Given the description of an element on the screen output the (x, y) to click on. 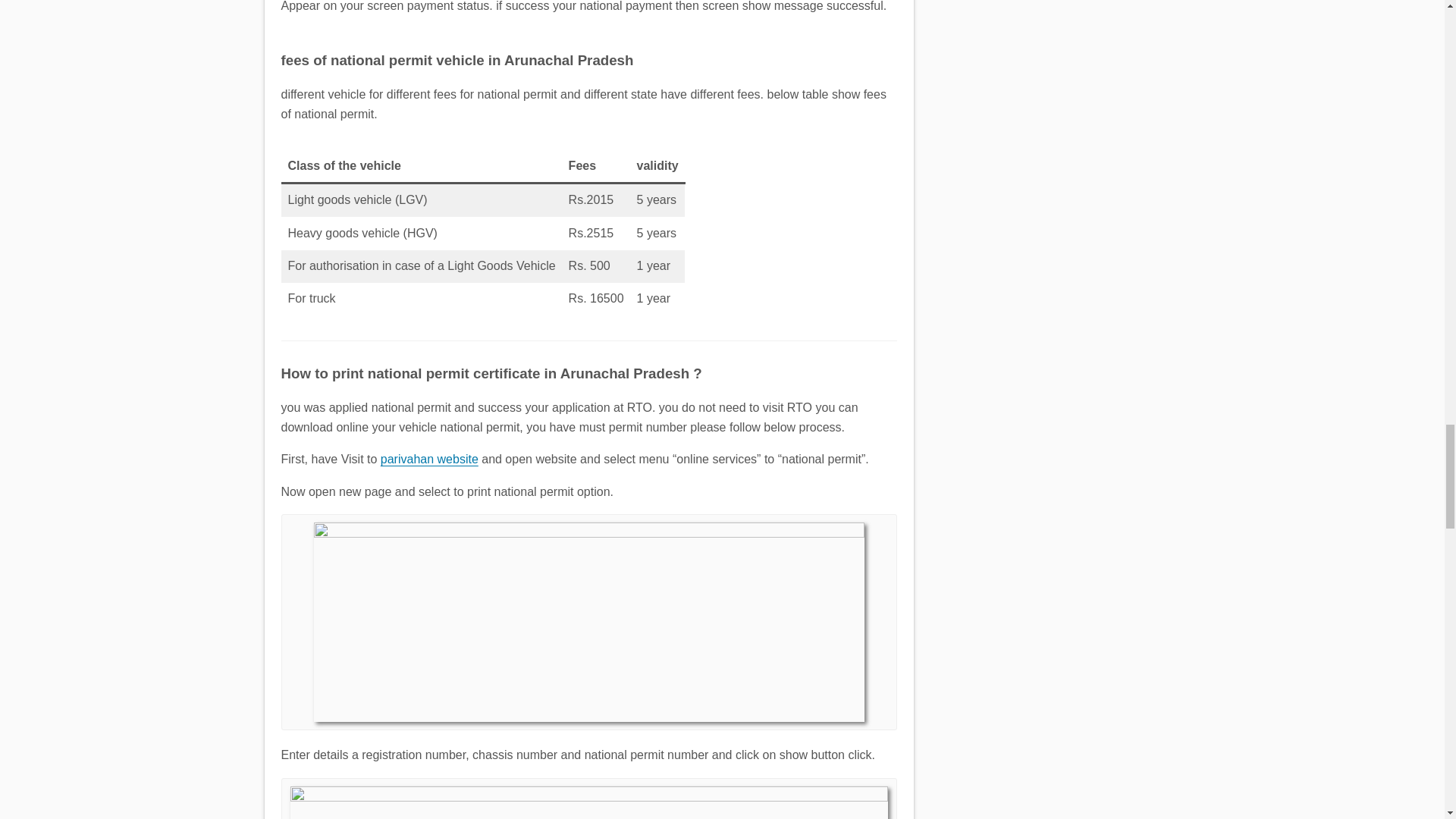
parivahan website (429, 459)
